Given the description of an element on the screen output the (x, y) to click on. 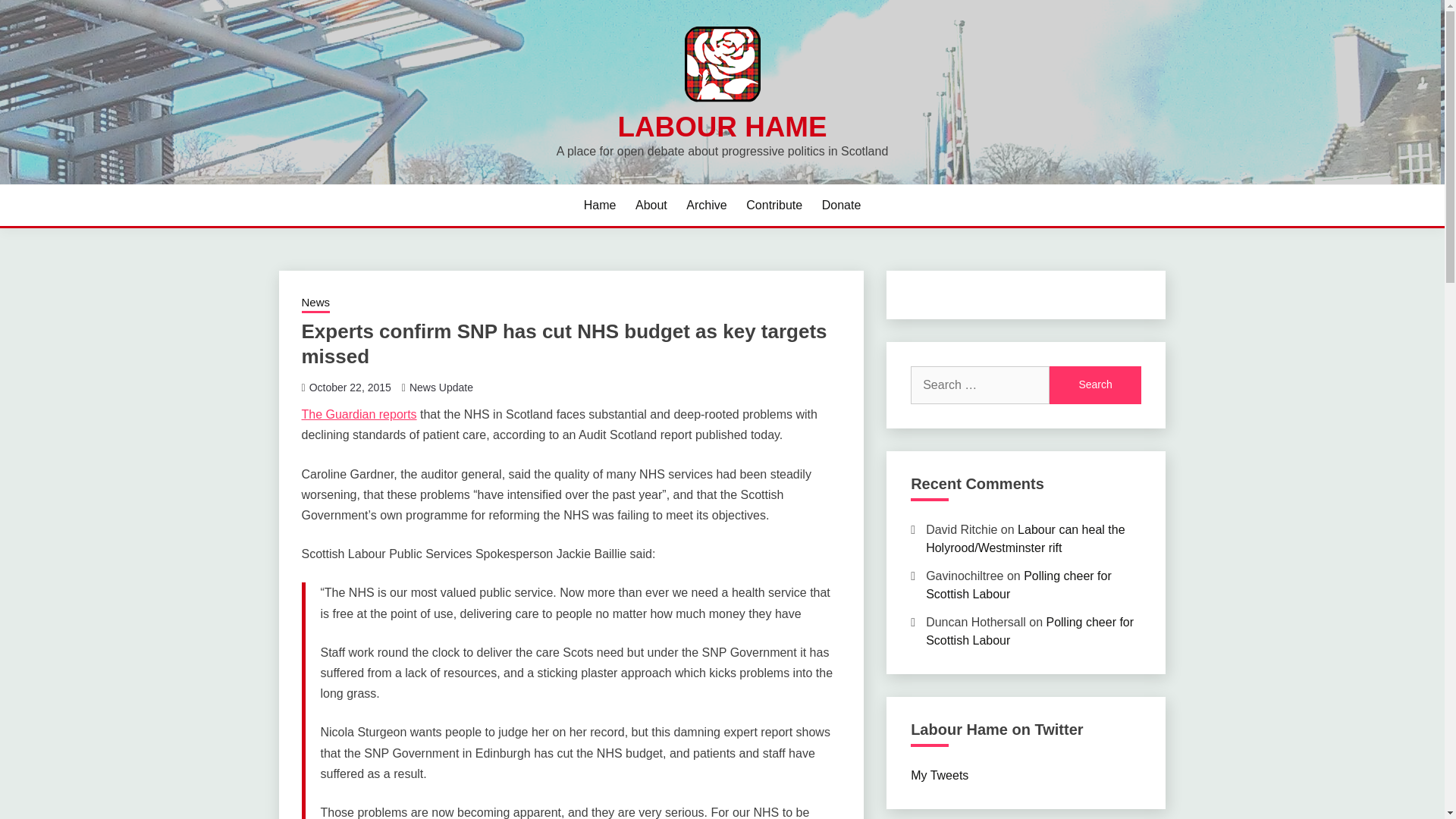
Hame (599, 205)
Search (1095, 385)
Search (1095, 385)
The Guardian reports (358, 413)
LABOUR HAME (722, 126)
Polling cheer for Scottish Labour (1019, 584)
Contribute (773, 205)
About (650, 205)
News (315, 303)
Donate (841, 205)
